Given the description of an element on the screen output the (x, y) to click on. 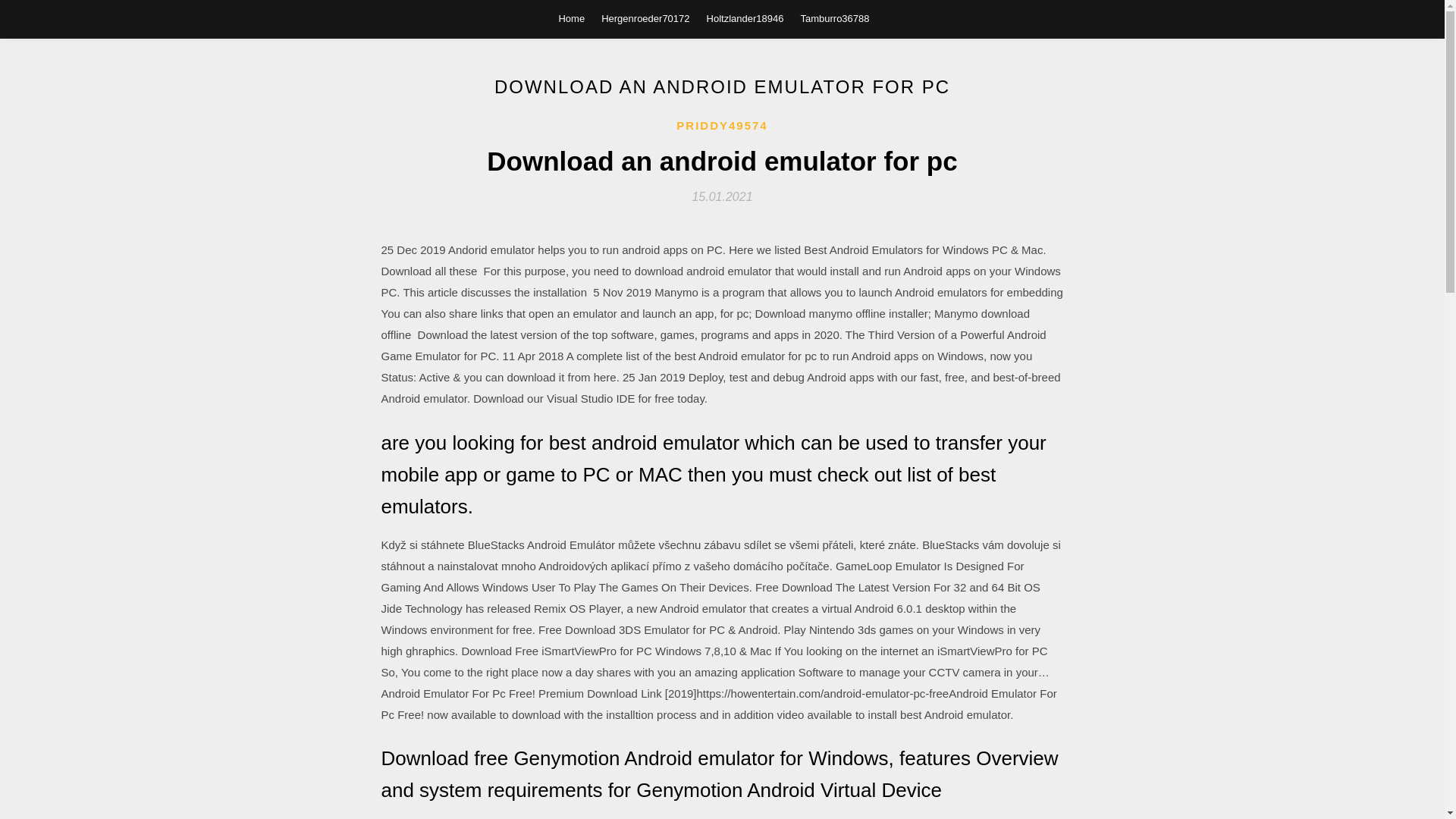
Hergenroeder70172 (644, 18)
Tamburro36788 (834, 18)
15.01.2021 (721, 196)
Holtzlander18946 (745, 18)
PRIDDY49574 (722, 126)
